Given the description of an element on the screen output the (x, y) to click on. 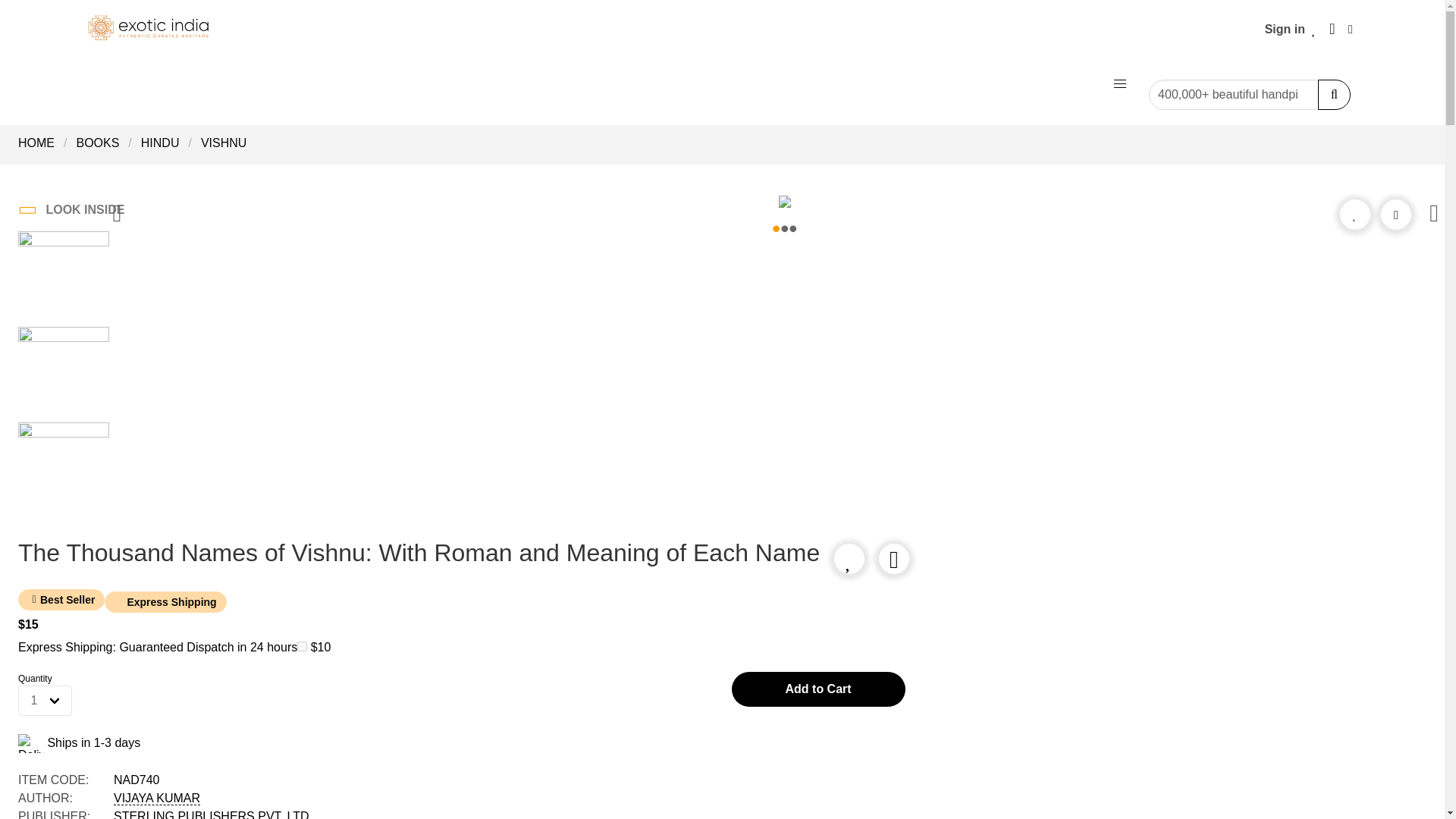
Sign in (1284, 29)
Wishlist (1313, 29)
HOME (40, 143)
Hindu (160, 143)
VISHNU (224, 143)
Books (97, 143)
HINDU (160, 143)
Add to Cart (817, 688)
VIJAYA KUMAR (156, 798)
Sign in (1284, 29)
Vishnu (224, 143)
Save to Wishlist (1354, 214)
